Given the description of an element on the screen output the (x, y) to click on. 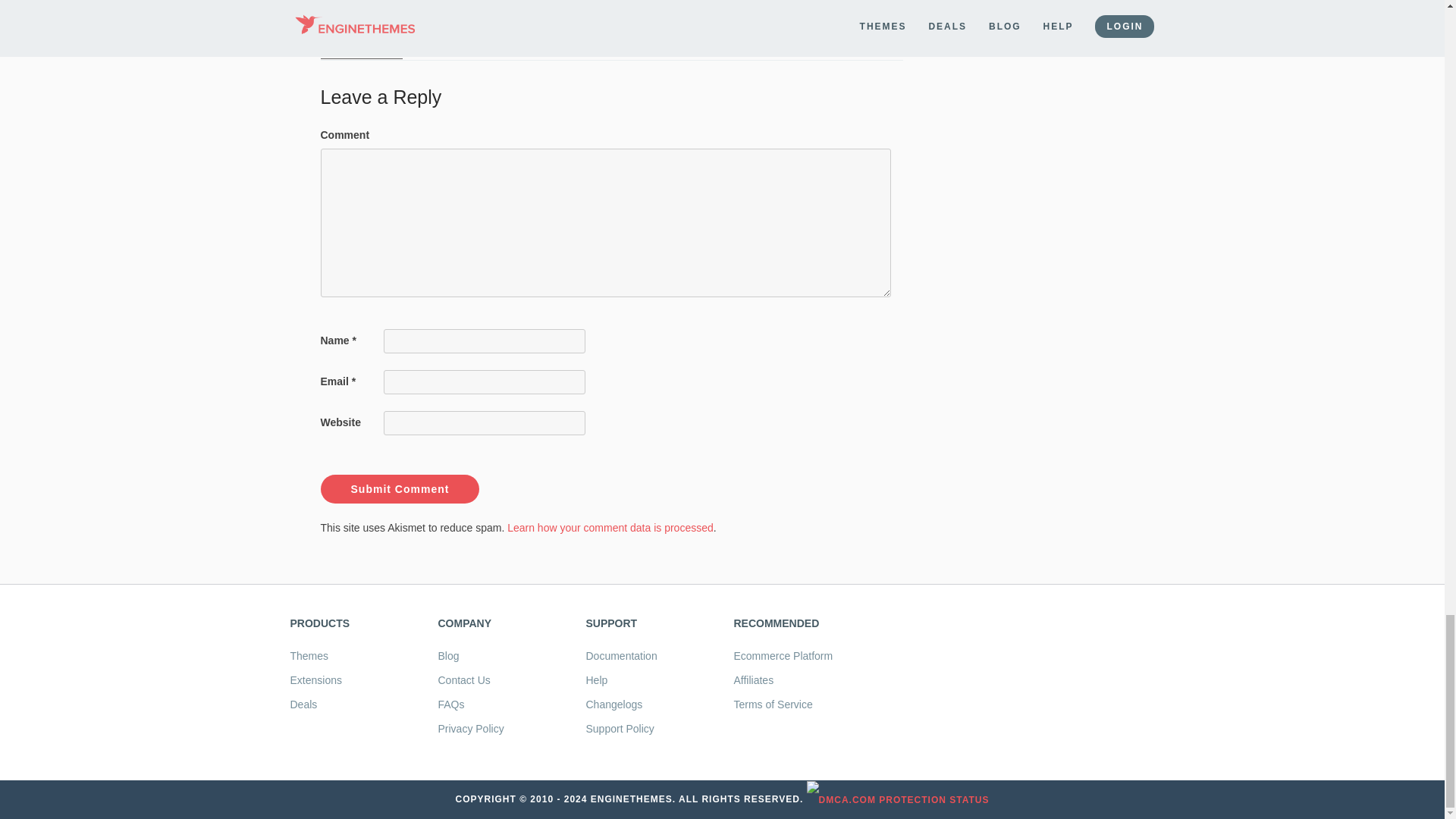
View All Themes (309, 655)
Ecommerce Platform (782, 655)
Special Package Deals (303, 704)
Changelogs (613, 704)
Deals (303, 704)
Learn how your comment data is processed (609, 527)
Submit Comment (399, 489)
Contact Us (464, 680)
Affiliates (753, 680)
Terms of Service (772, 704)
